Given the description of an element on the screen output the (x, y) to click on. 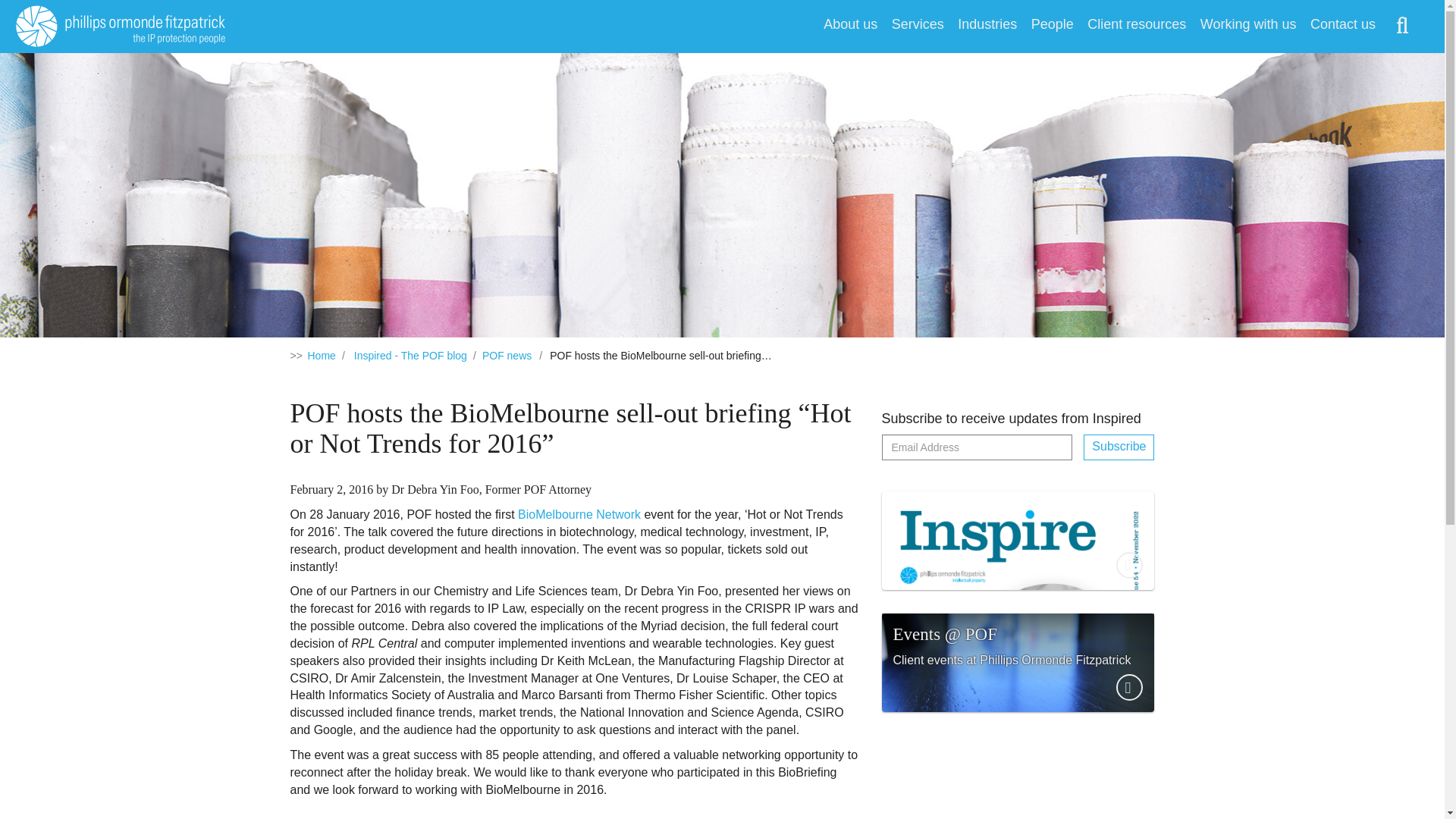
Client resources (1131, 26)
People (1047, 26)
Services (911, 26)
Contact us (1343, 26)
Working with us (1243, 26)
Subscribe (1118, 447)
Search (1406, 26)
Industries (981, 26)
Services (911, 26)
Open search (1406, 26)
Industries (981, 26)
About us (844, 26)
About us (844, 26)
